Given the description of an element on the screen output the (x, y) to click on. 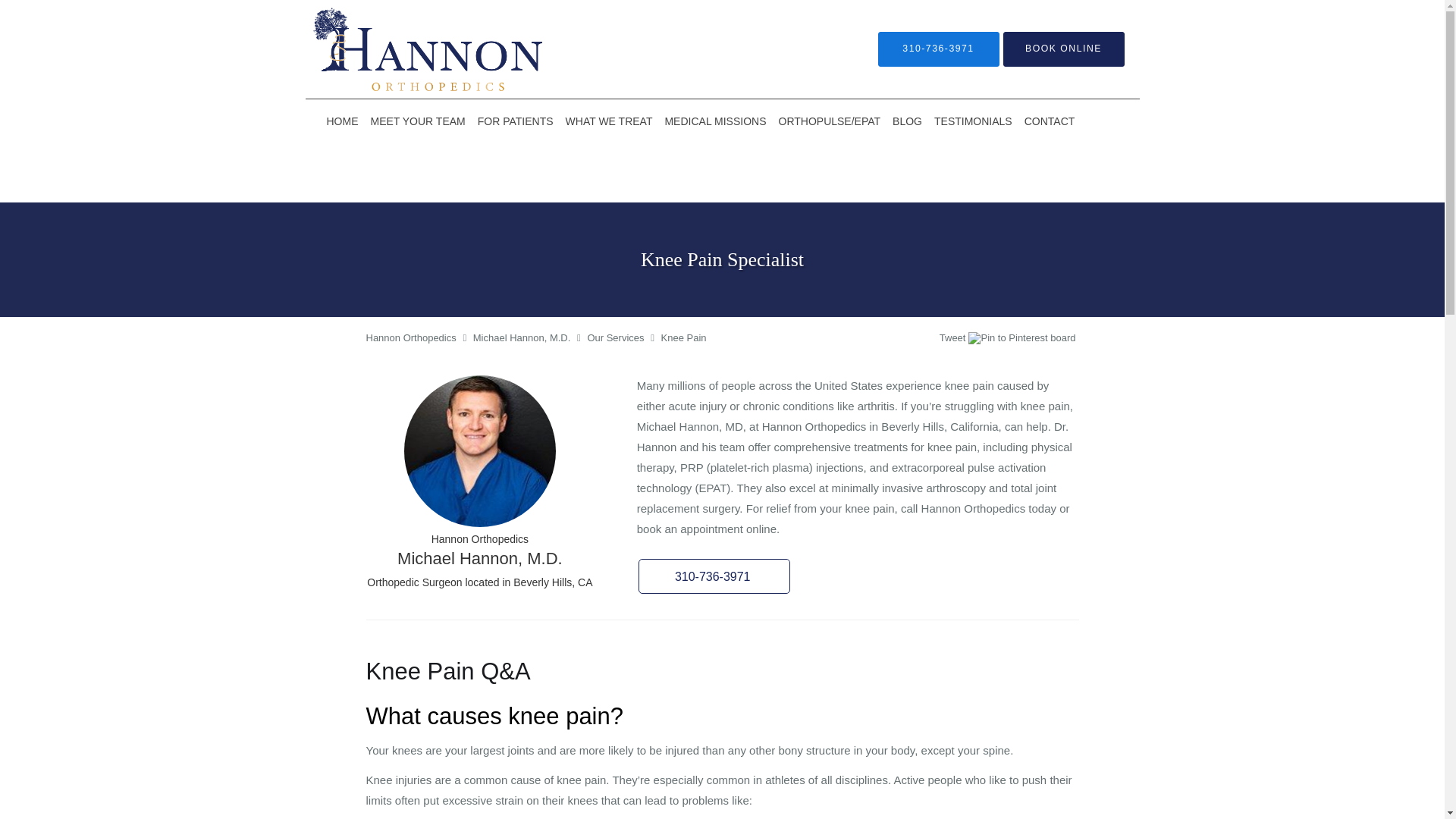
CONTACT (1049, 121)
BLOG (907, 121)
FOR PATIENTS (515, 121)
MEDICAL MISSIONS (714, 121)
310-736-3971 (714, 575)
Tweet (952, 337)
TESTIMONIALS (972, 121)
MEET YOUR TEAM (417, 121)
WHAT WE TREAT (609, 121)
HOME (342, 121)
Michael Hannon, M.D. (521, 337)
Knee Pain (683, 337)
BOOK ONLINE (1063, 48)
310-736-3971 (937, 48)
Facebook social button (880, 340)
